Given the description of an element on the screen output the (x, y) to click on. 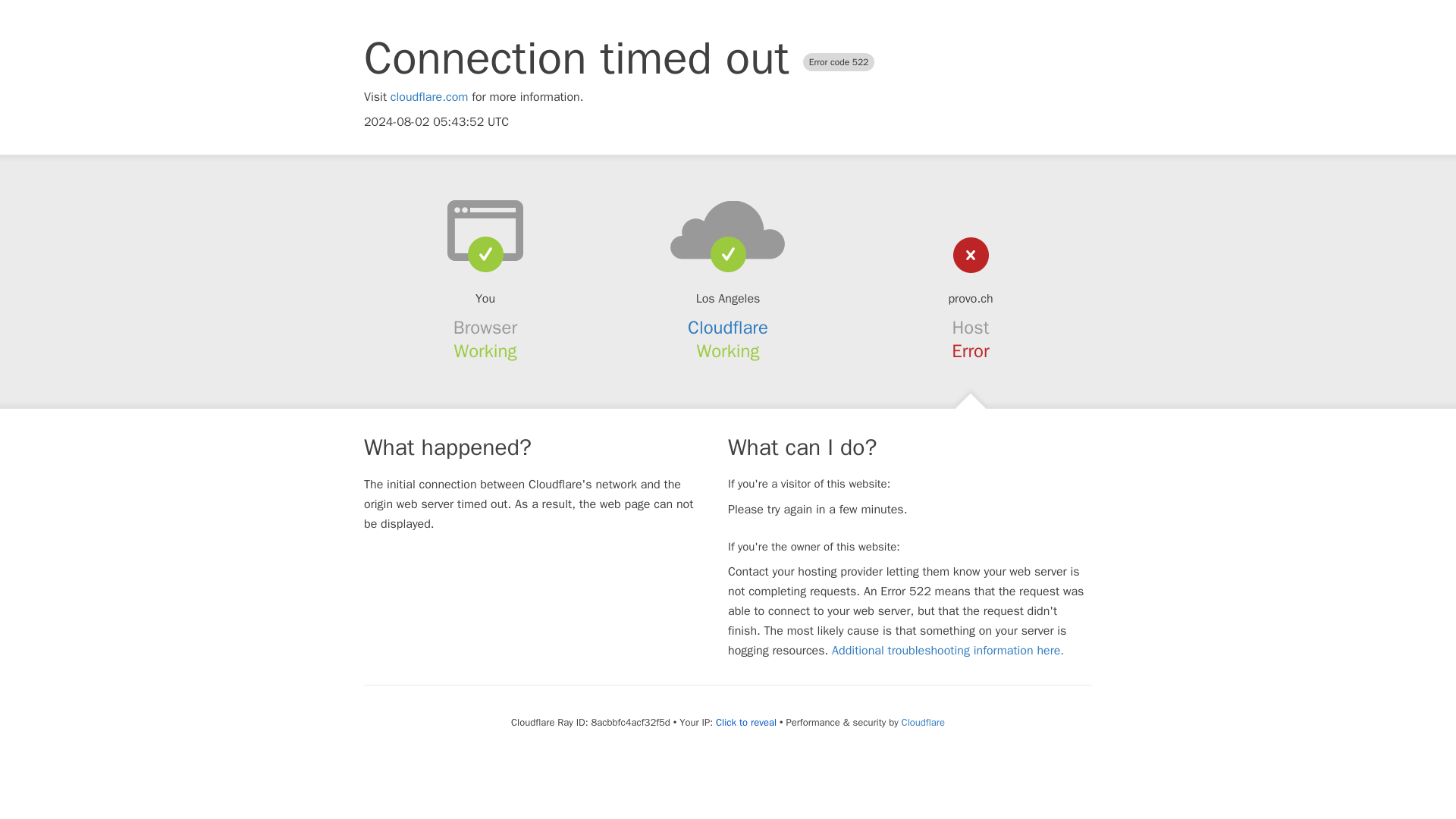
Cloudflare (922, 721)
Additional troubleshooting information here. (947, 650)
cloudflare.com (429, 96)
Cloudflare (727, 327)
Click to reveal (746, 722)
